Given the description of an element on the screen output the (x, y) to click on. 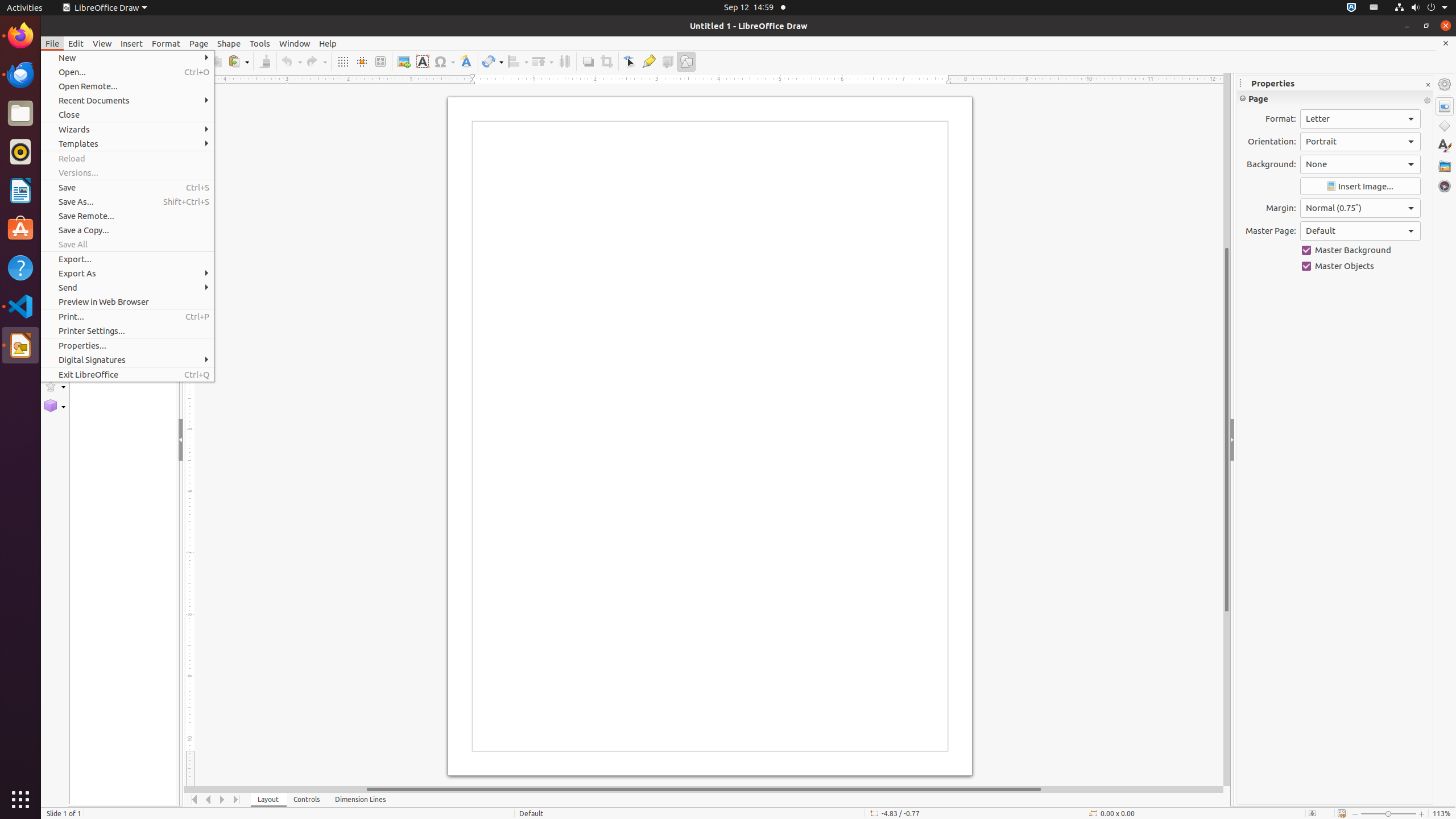
:1.72/StatusNotifierItem Element type: menu (1350, 7)
LibreOffice Draw Element type: menu (103, 7)
Symbol Element type: push-button (443, 61)
Draw Functions Element type: toggle-button (685, 61)
Background: Element type: combo-box (1360, 164)
